Given the description of an element on the screen output the (x, y) to click on. 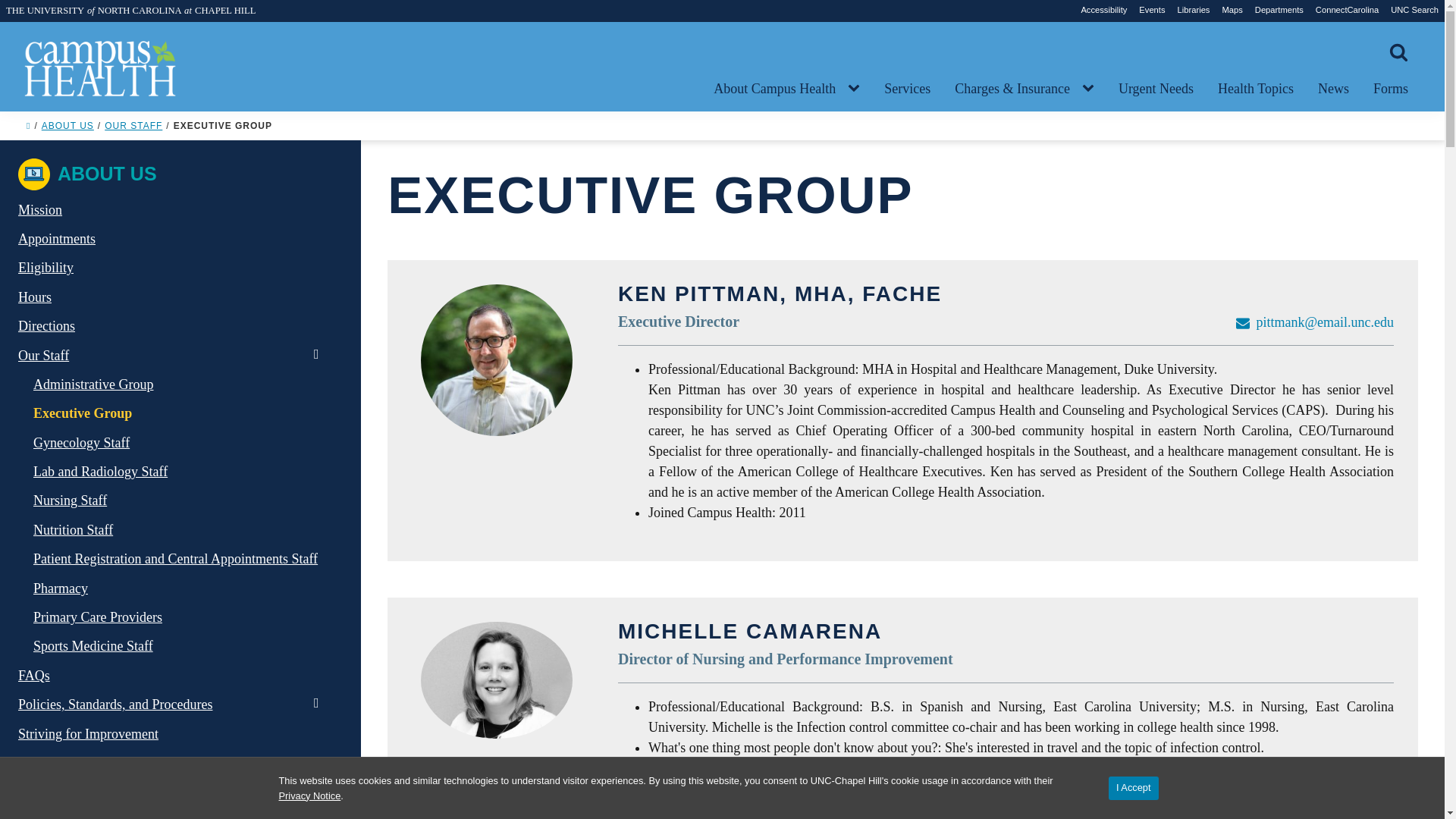
Maps (1231, 10)
ABOUT US (68, 125)
News (1333, 88)
I Accept (1133, 788)
Services (907, 88)
OUR STAFF (132, 125)
Go to About Us. (68, 125)
ConnectCarolina (1346, 10)
Libraries (1193, 10)
Search (34, 15)
ABOUT US (87, 174)
THE UNIVERSITY of NORTH CAROLINA at CHAPEL HILL (130, 9)
Events (1151, 10)
Forms (1391, 88)
Email (1242, 323)
